Given the description of an element on the screen output the (x, y) to click on. 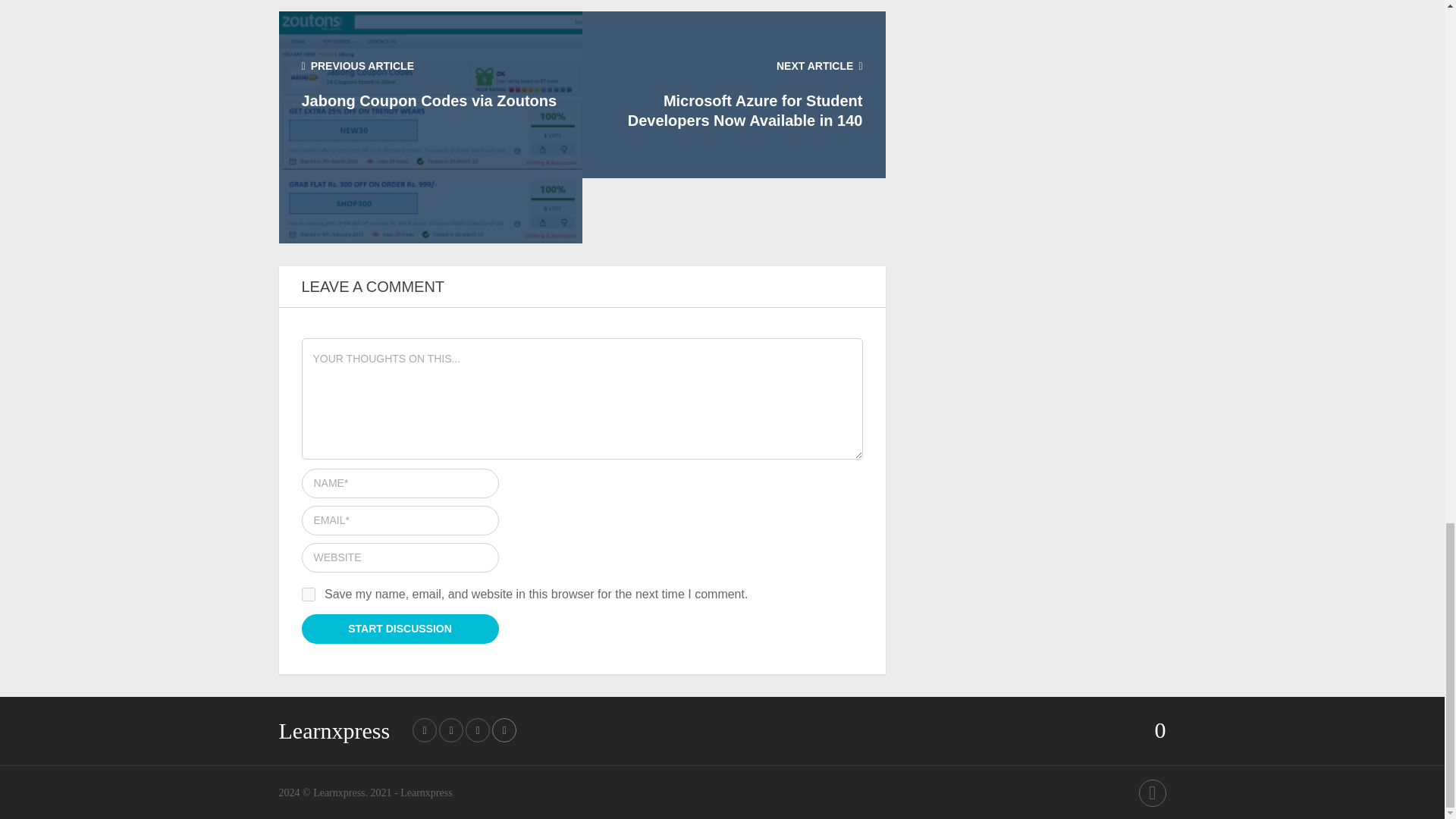
yes (308, 594)
Learnxpress (339, 792)
Start Discussion (400, 628)
 Best free software development news and reviews (339, 792)
Start Discussion (400, 628)
Learnxpress (334, 730)
